Given the description of an element on the screen output the (x, y) to click on. 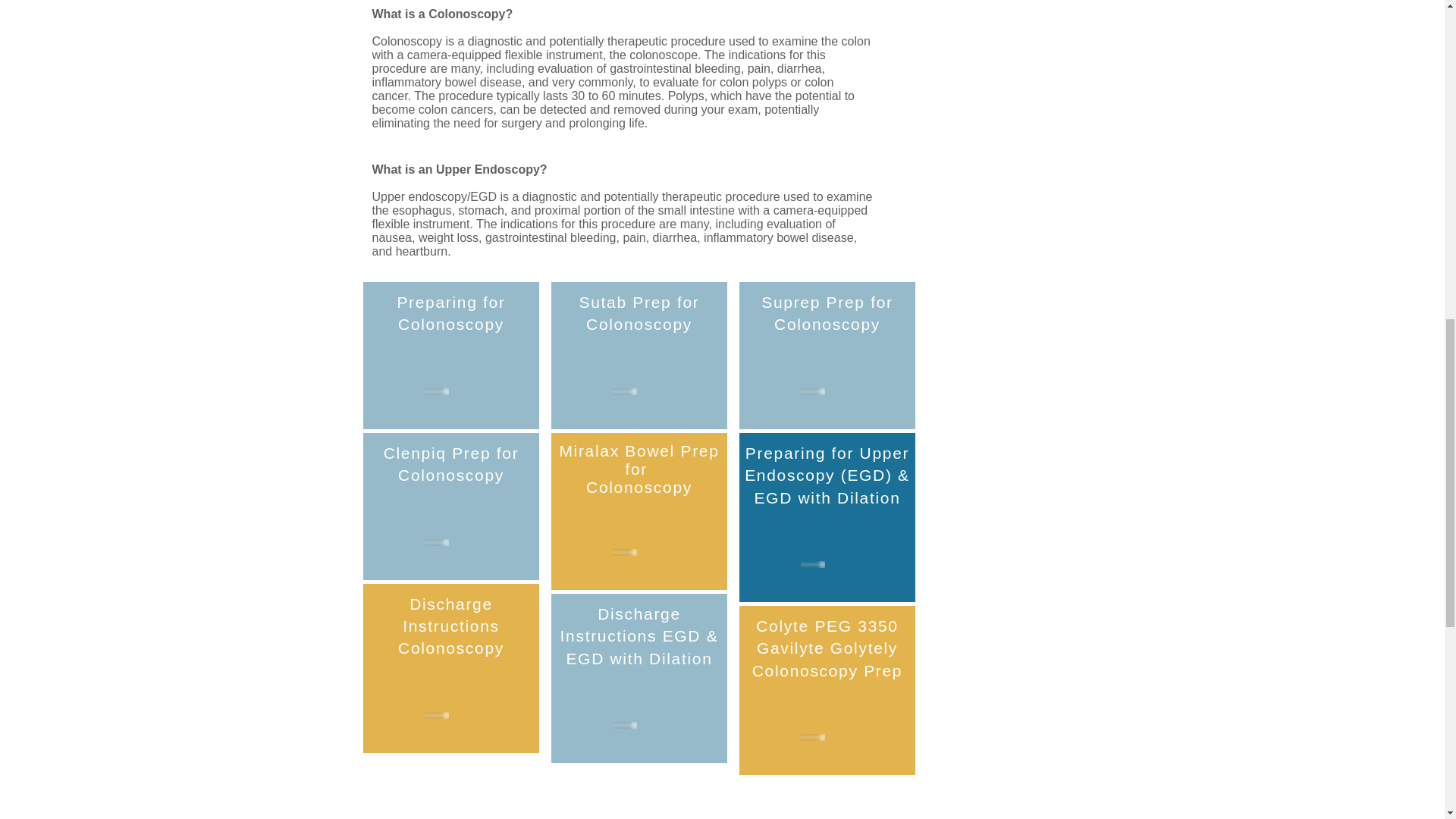
Sutab Prep for Colonoscopy (639, 312)
Preparing for Colonoscopy (450, 312)
Discharge Instructions Colonoscopy (450, 626)
Clenpiq Prep for Colonoscopy (451, 464)
